Given the description of an element on the screen output the (x, y) to click on. 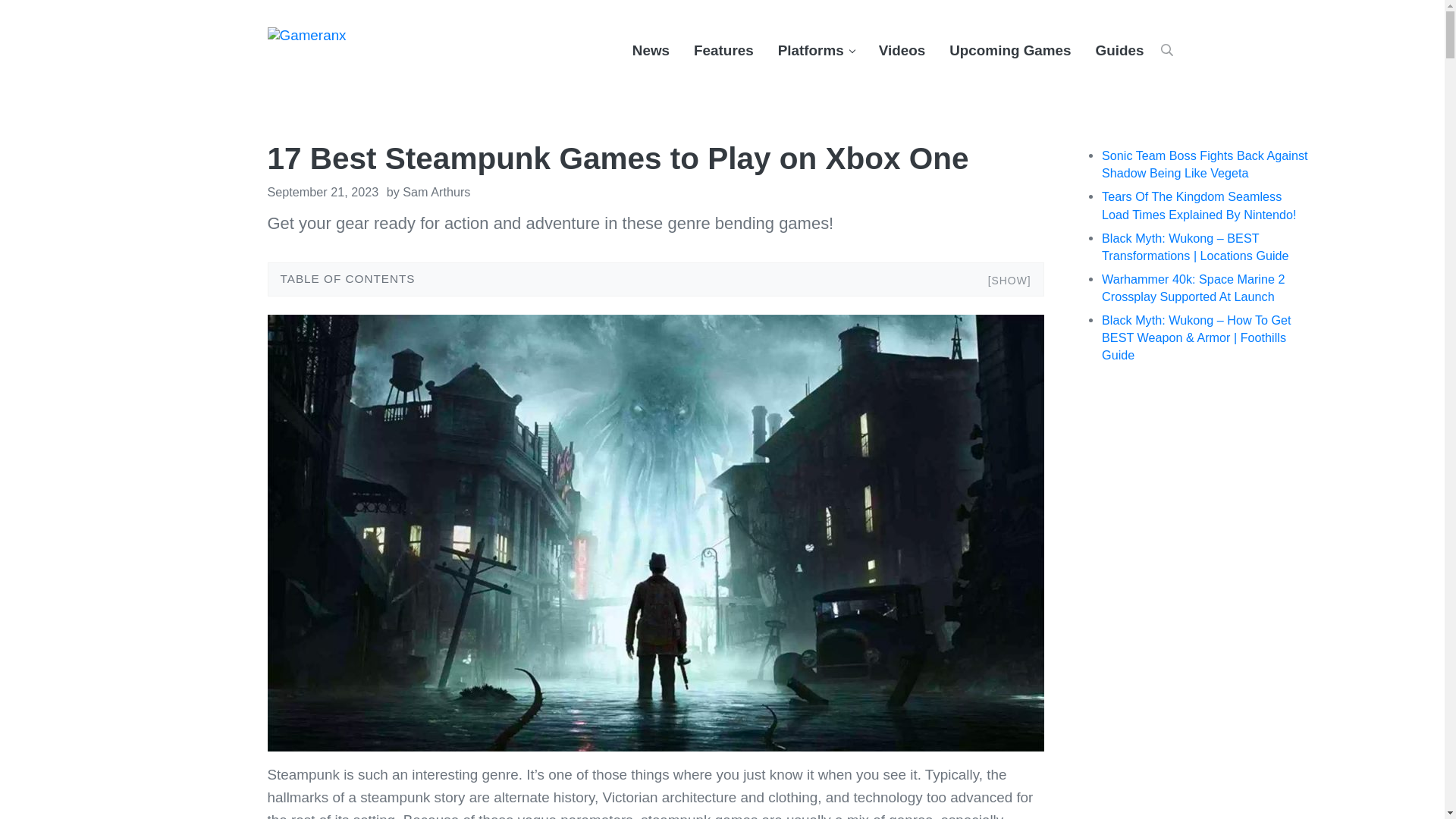
News (650, 50)
Sam Arthurs (436, 192)
Upcoming Games (1010, 50)
Videos (901, 50)
Guides (1119, 50)
Features (723, 50)
Platforms (815, 50)
